Given the description of an element on the screen output the (x, y) to click on. 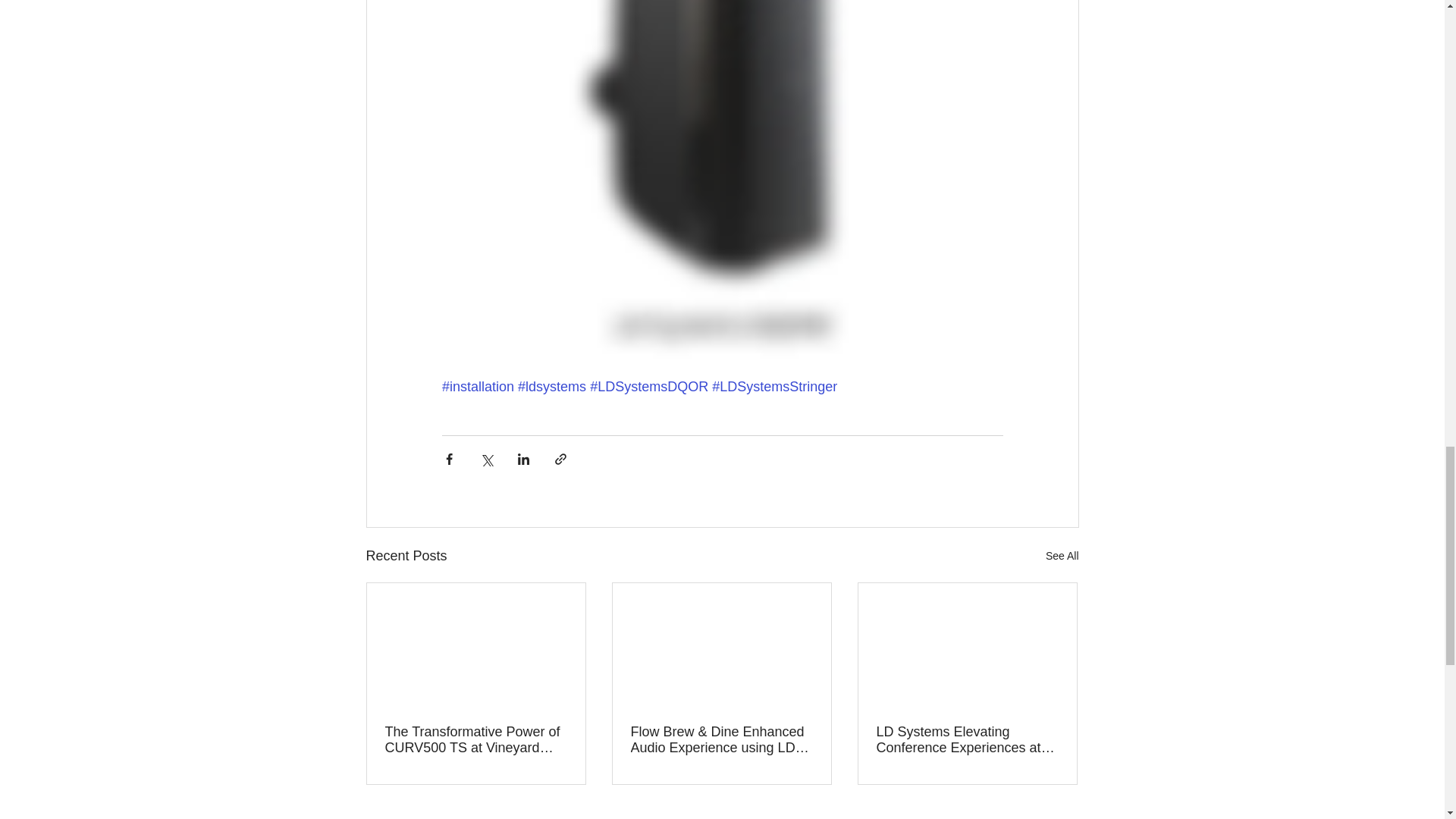
See All (1061, 556)
